Given the description of an element on the screen output the (x, y) to click on. 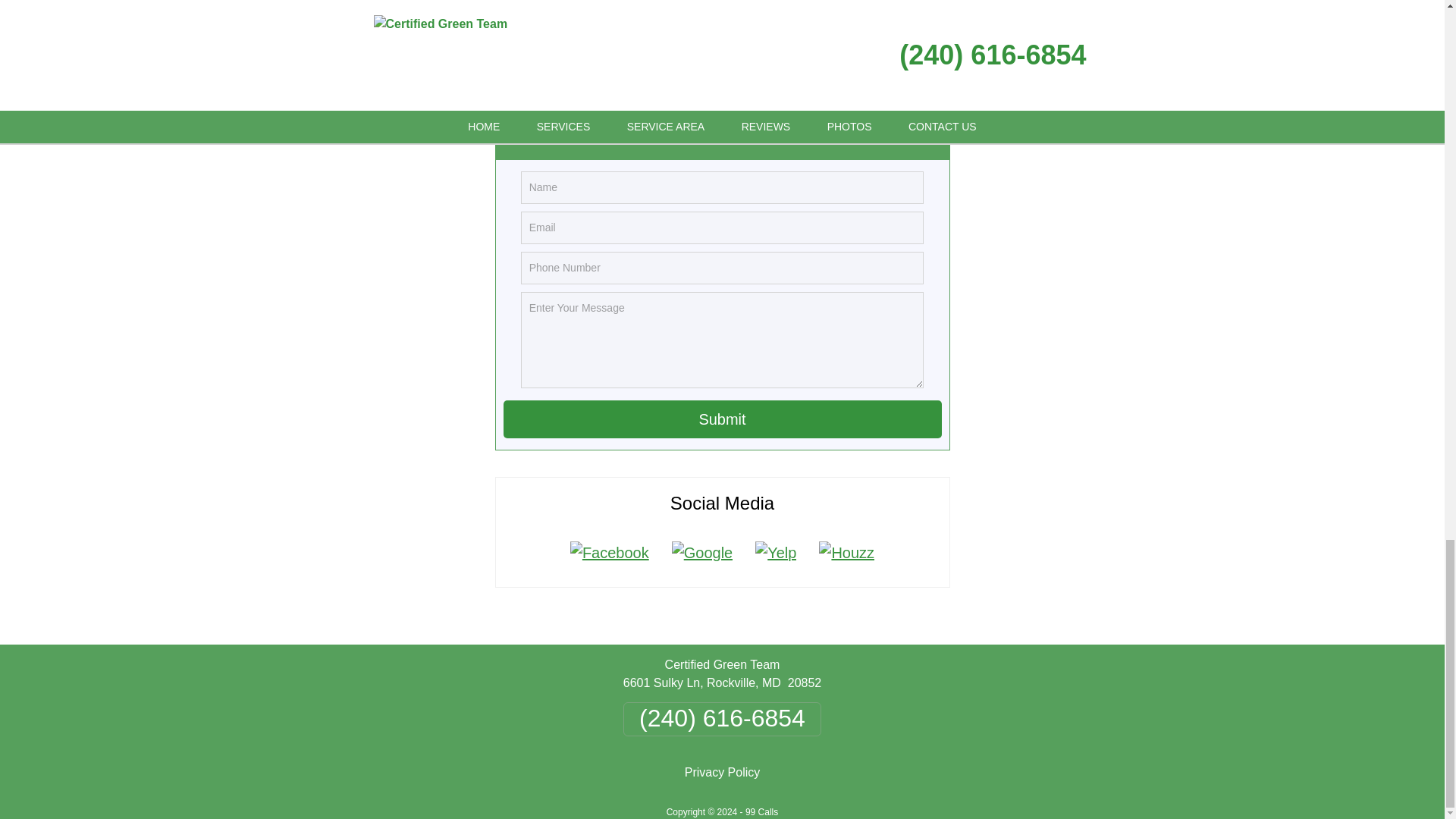
Google (702, 552)
Houzz (846, 552)
Yelp (776, 552)
Facebook (610, 552)
